Given the description of an element on the screen output the (x, y) to click on. 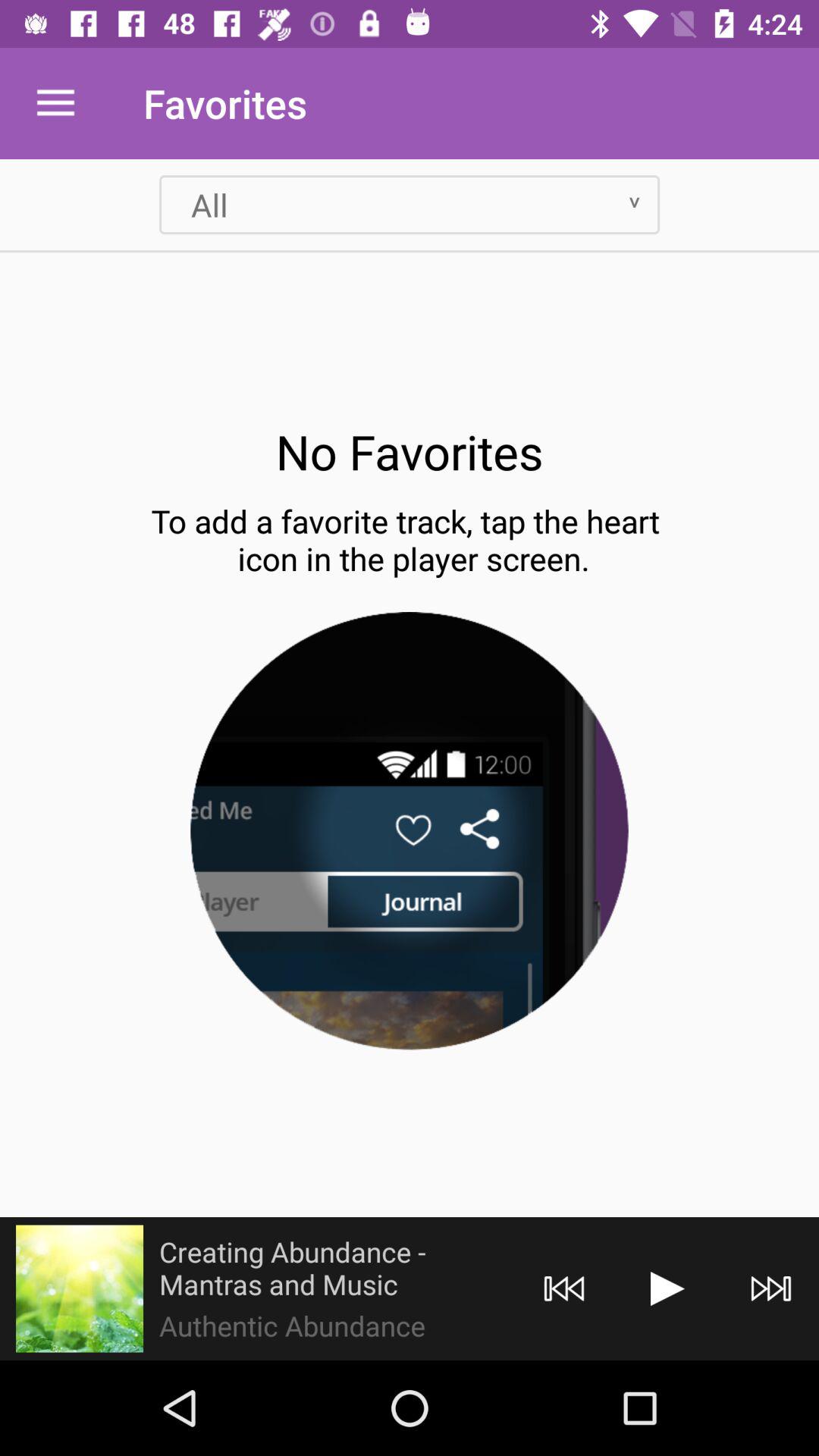
current song (79, 1288)
